Given the description of an element on the screen output the (x, y) to click on. 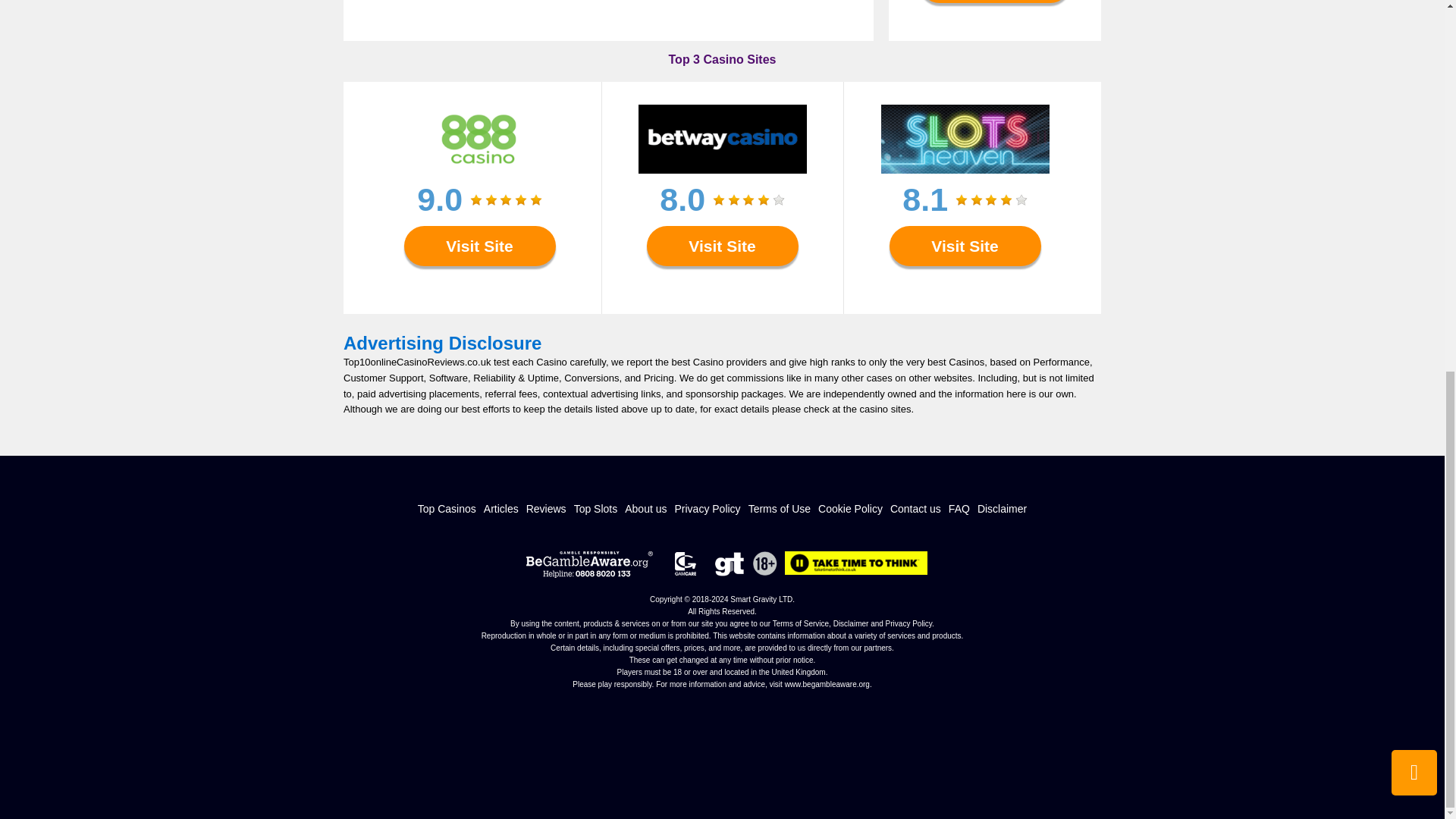
Visit Site (721, 246)
Read review (964, 282)
Terms of Use (779, 508)
bad (719, 200)
Visit Site (478, 246)
Disclaimer (1001, 508)
good (521, 200)
poor (490, 200)
regular (991, 200)
Articles (500, 508)
Read review (478, 282)
Contact us (914, 508)
bad (961, 200)
FAQ (959, 508)
Visit Site (994, 1)
